Given the description of an element on the screen output the (x, y) to click on. 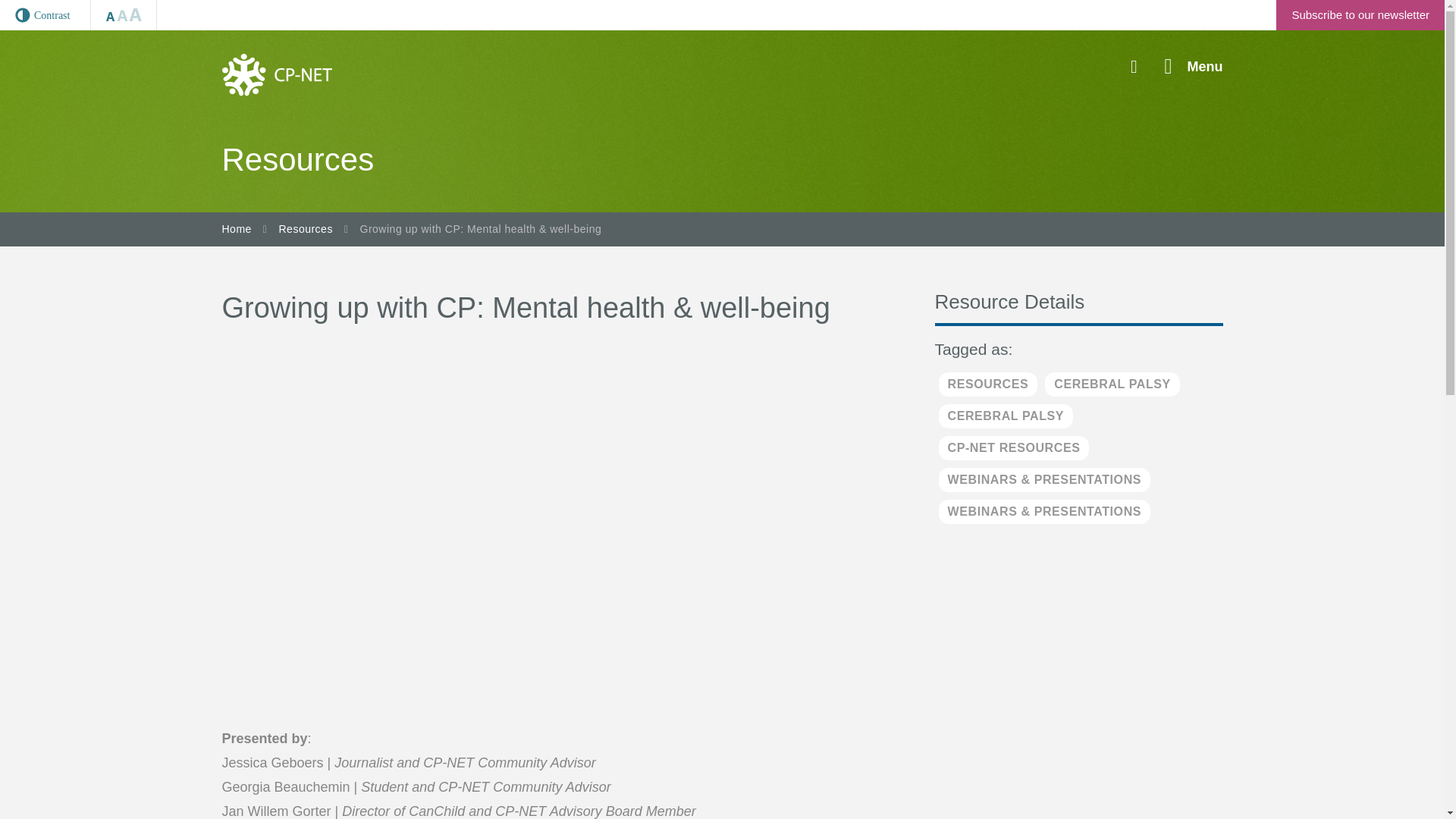
Change Contrast (45, 15)
Menu (1193, 66)
CanChild (276, 74)
Font Size (123, 15)
